Given the description of an element on the screen output the (x, y) to click on. 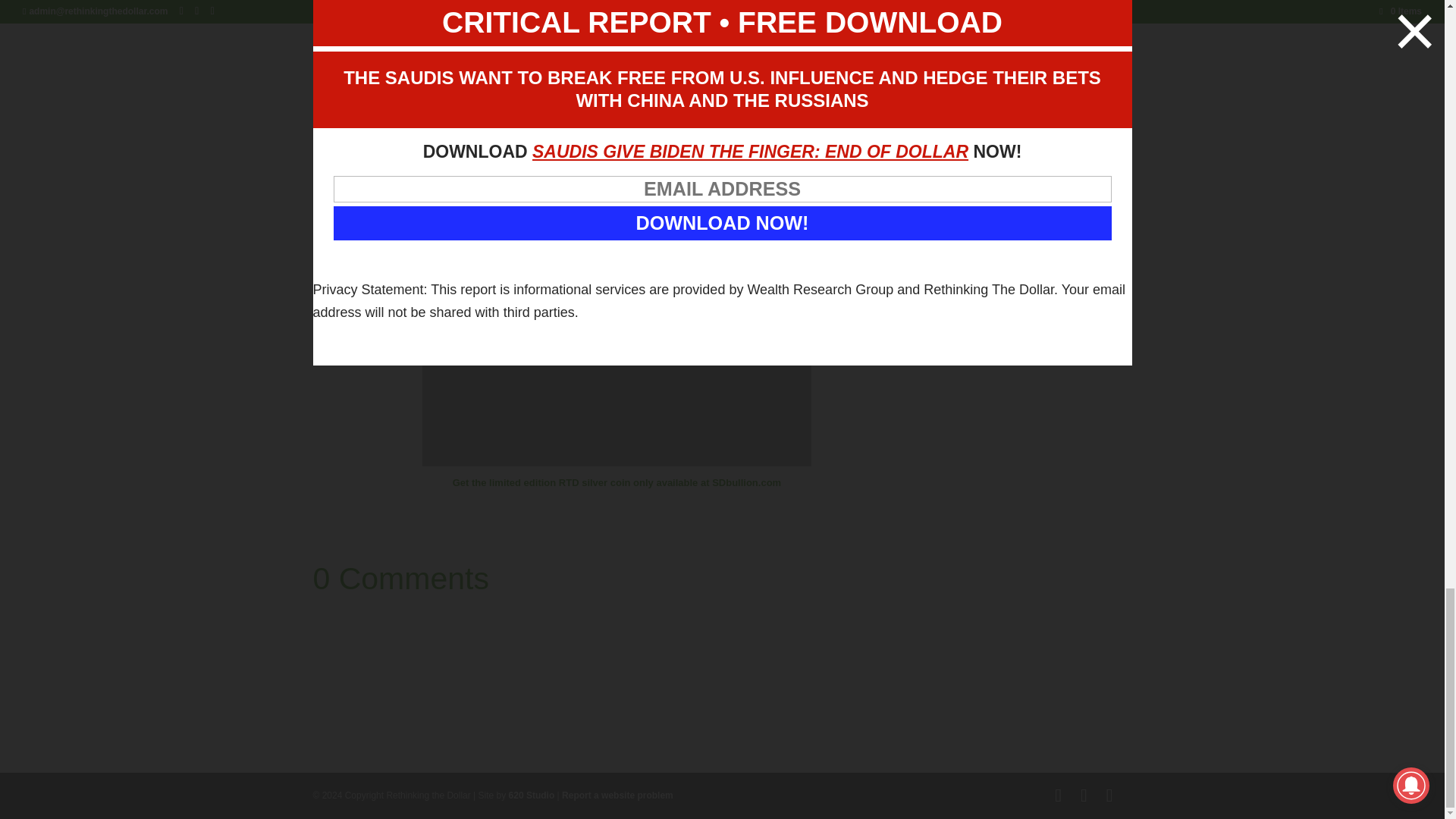
620 Studio (531, 795)
